Given the description of an element on the screen output the (x, y) to click on. 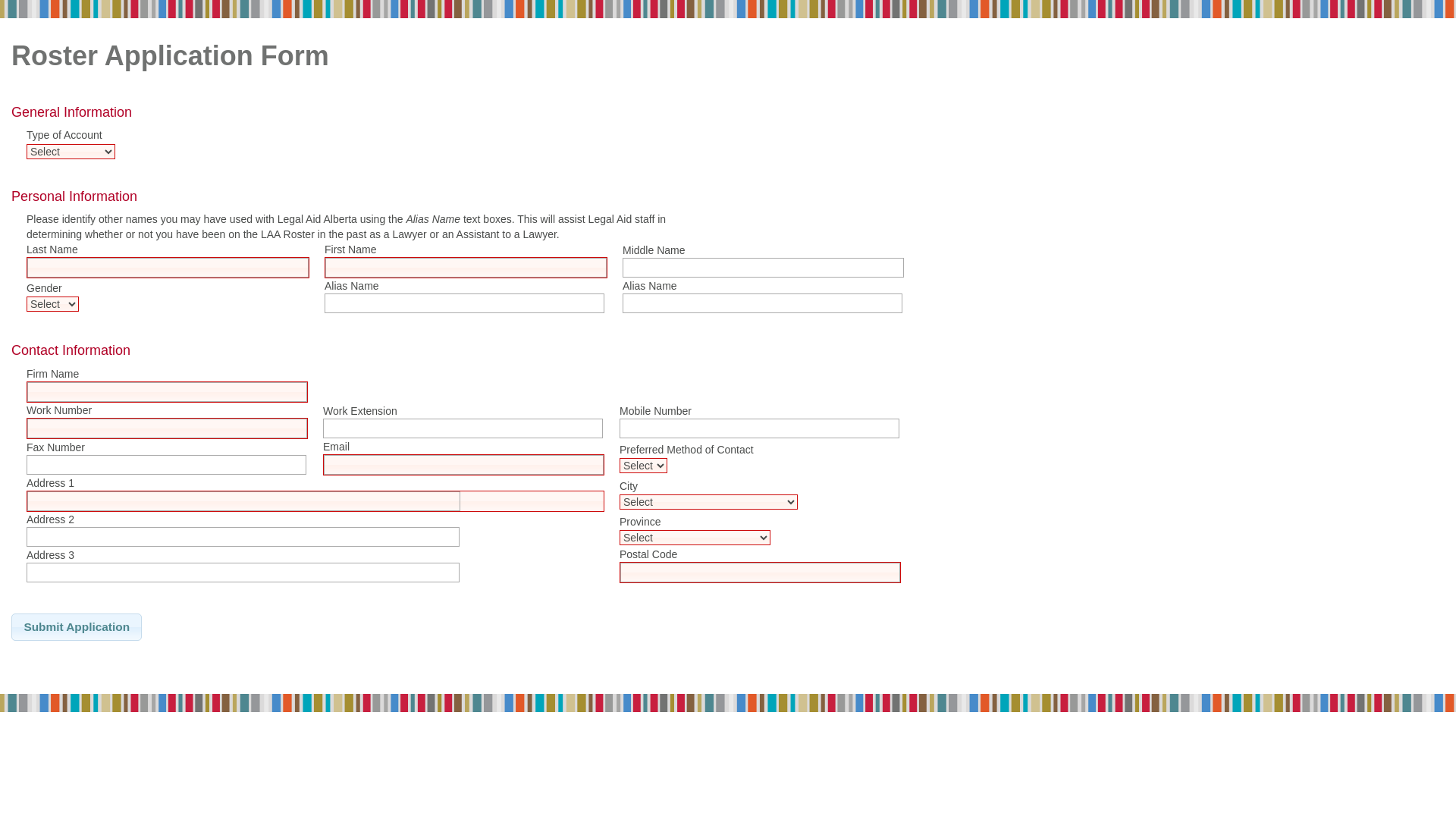
Submit Application Element type: text (76, 626)
